Given the description of an element on the screen output the (x, y) to click on. 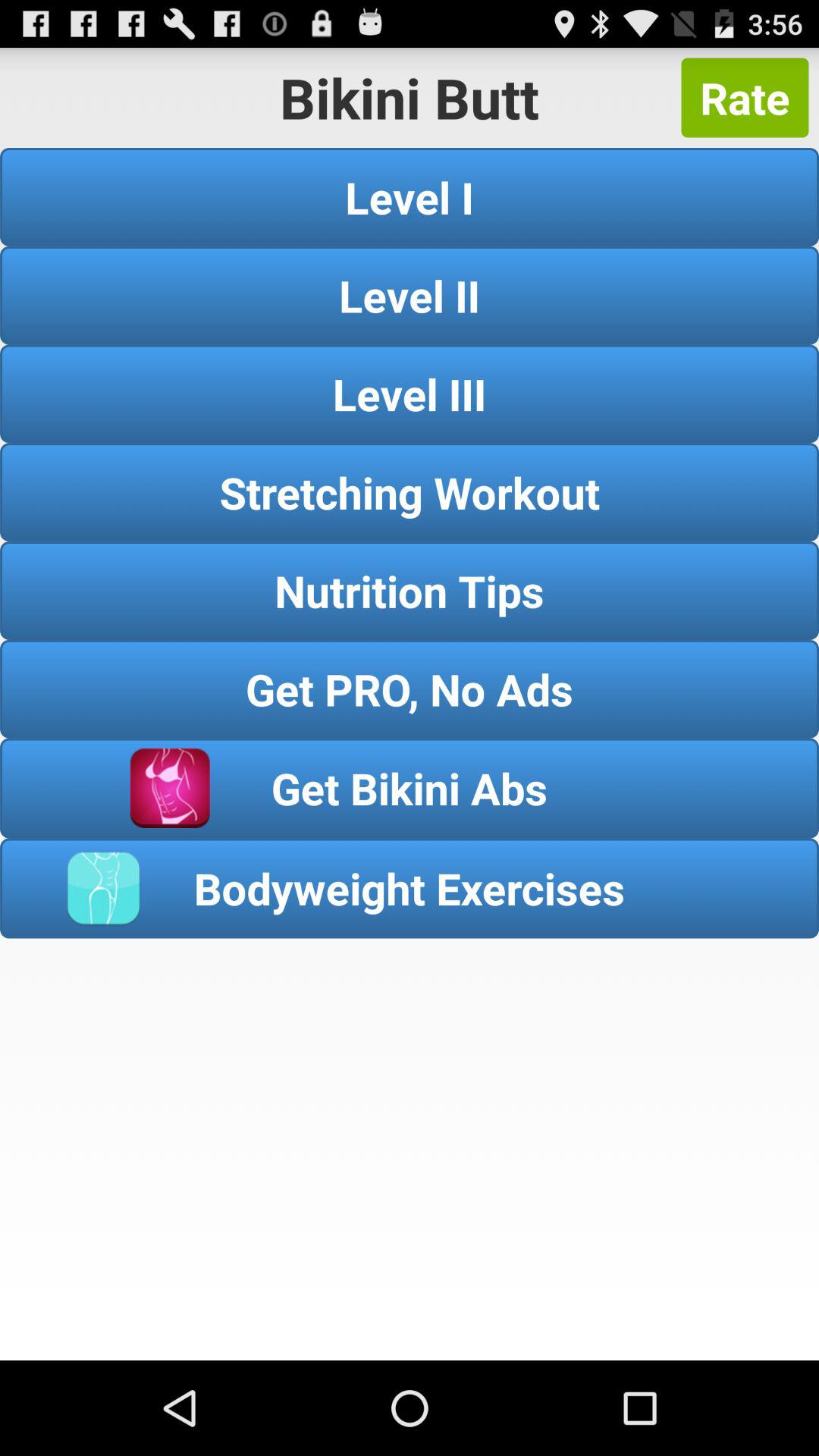
click the level iii (409, 393)
